Given the description of an element on the screen output the (x, y) to click on. 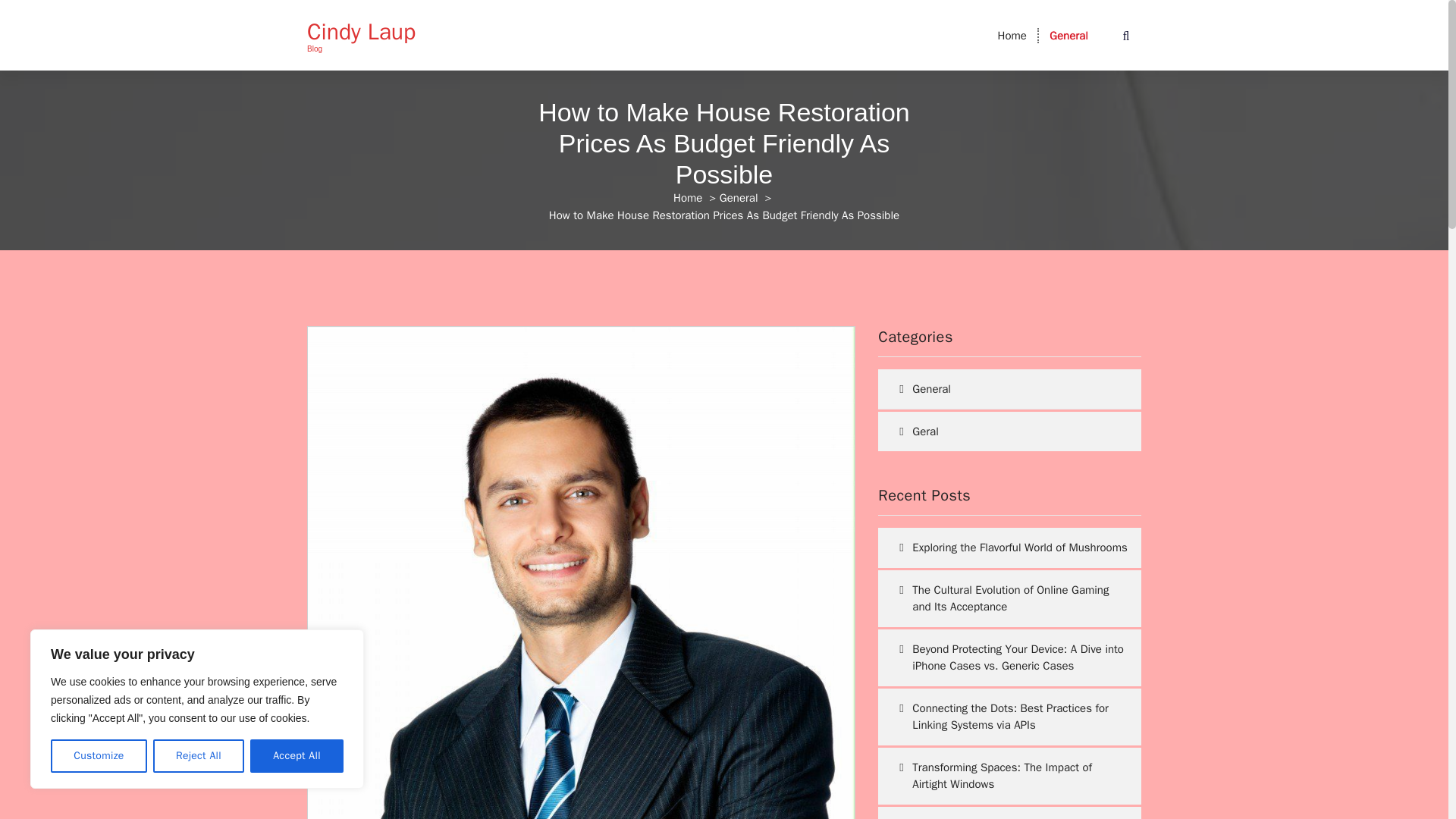
Home (1012, 35)
General (1068, 35)
Accept All (296, 756)
Reject All (198, 756)
Customize (98, 756)
General (1068, 35)
General (738, 197)
Home (686, 197)
Cindy Laup (360, 31)
Home (1012, 35)
